Given the description of an element on the screen output the (x, y) to click on. 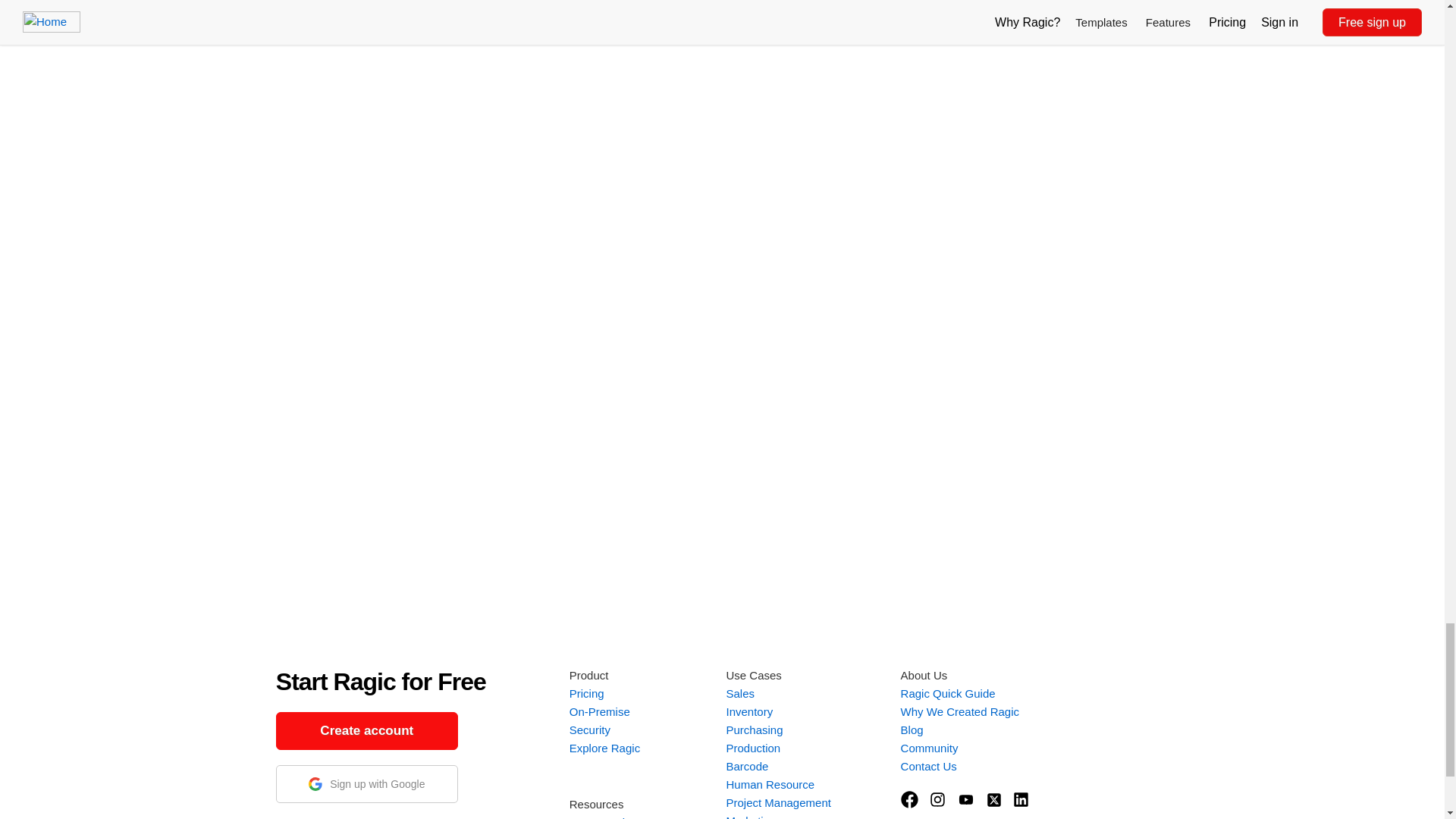
Security (589, 729)
Twitter (994, 799)
On-Premise (599, 711)
Purchasing (754, 729)
Human Resource (769, 784)
Create account (367, 730)
Sales (739, 693)
Inventory (749, 711)
Production (752, 748)
Instagram (937, 799)
